Given the description of an element on the screen output the (x, y) to click on. 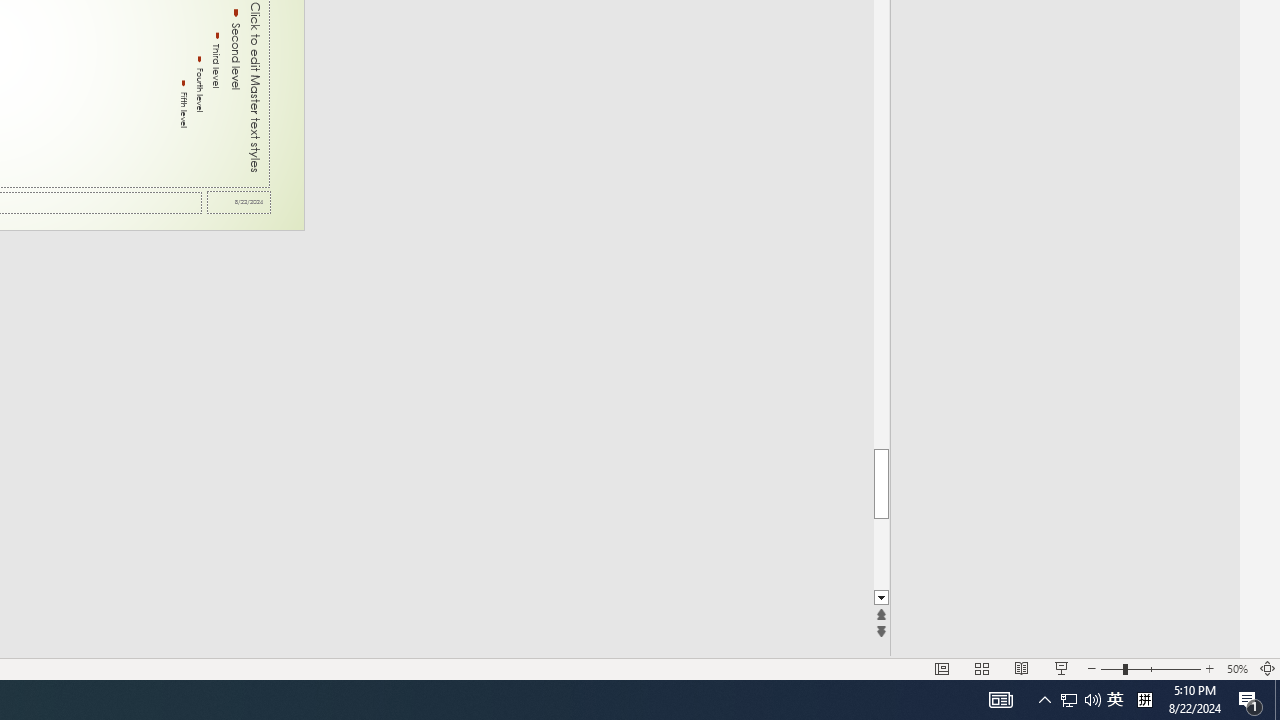
Date (239, 201)
Zoom 50% (1236, 668)
